Given the description of an element on the screen output the (x, y) to click on. 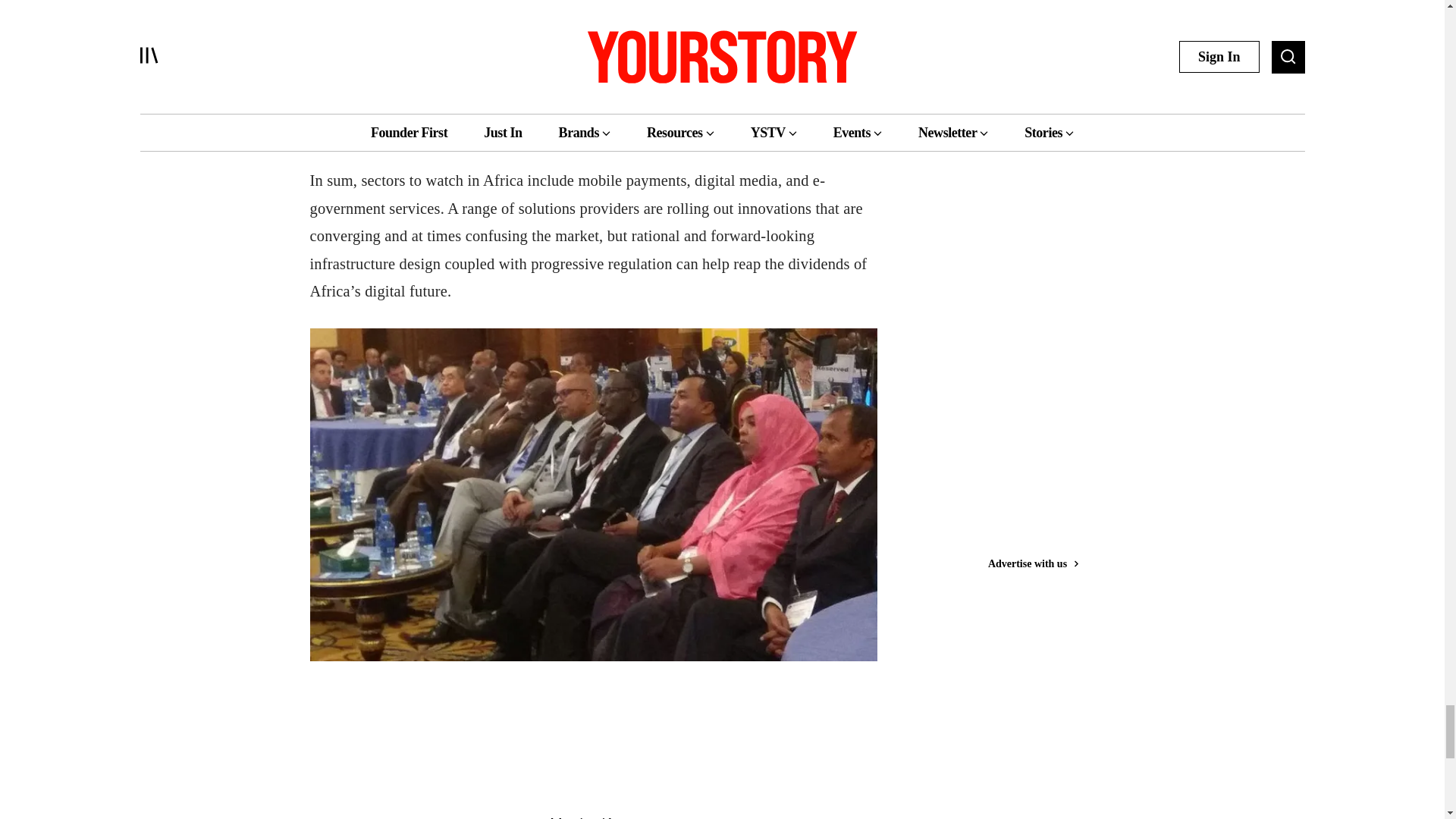
3rd party ad content (593, 776)
